Given the description of an element on the screen output the (x, y) to click on. 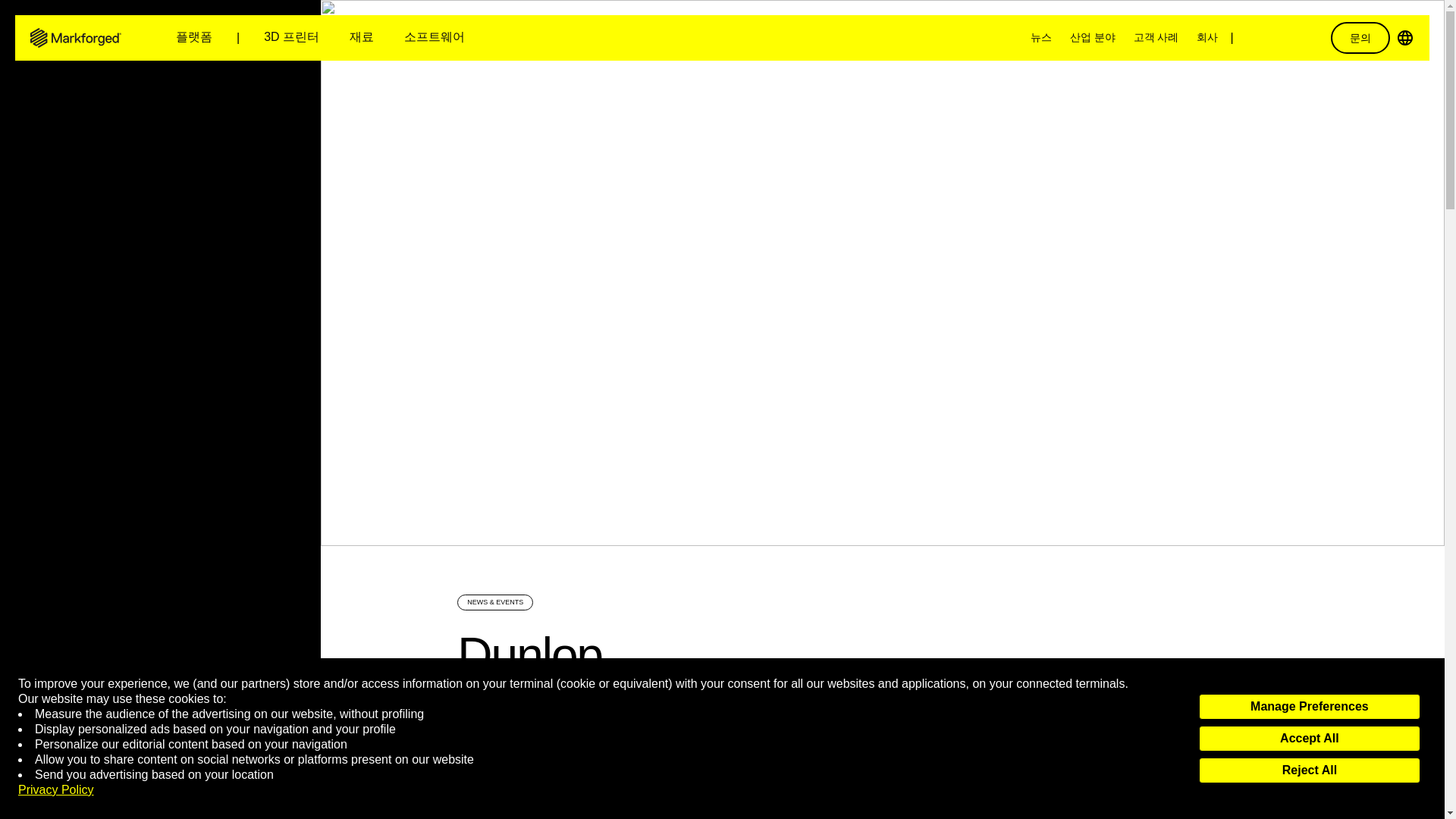
Manage Preferences (1309, 706)
Privacy Policy (55, 789)
Reject All (1309, 769)
Accept All (1309, 738)
